Given the description of an element on the screen output the (x, y) to click on. 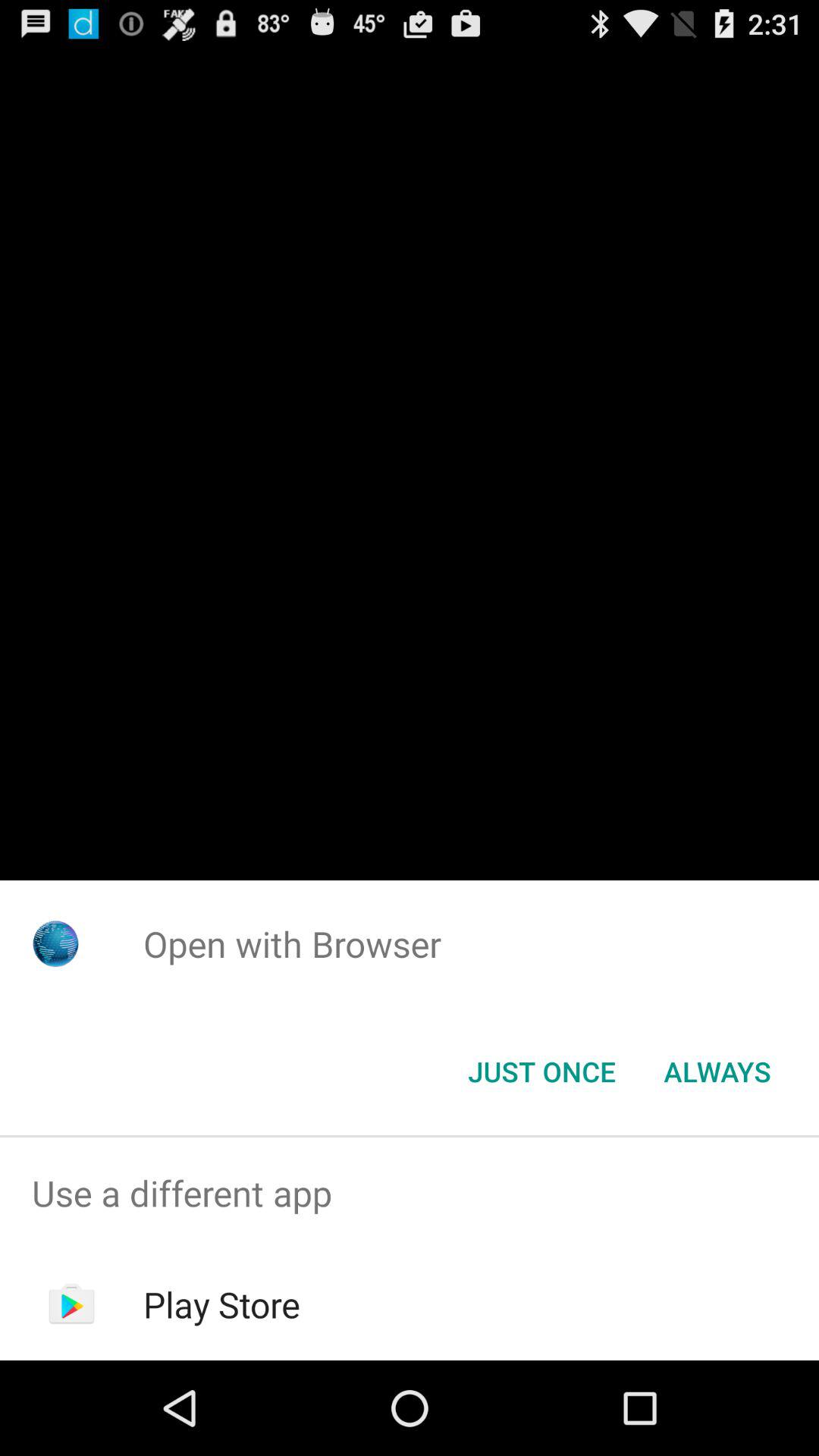
press item next to always (541, 1071)
